Given the description of an element on the screen output the (x, y) to click on. 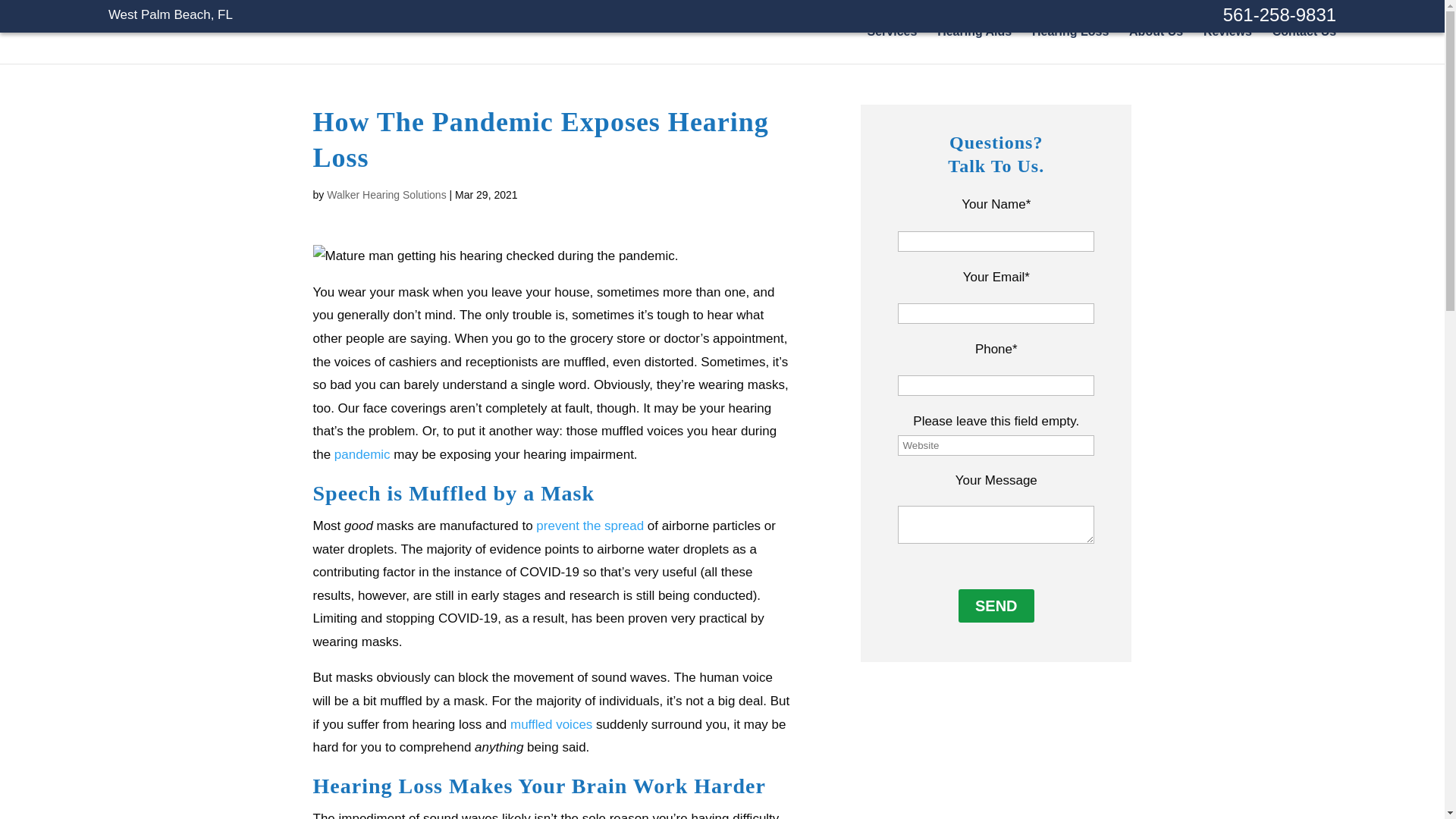
pandemic (362, 454)
Walker Hearing Solutions (385, 194)
Hearing Loss (1070, 37)
Walker Hearing Solutions (316, 28)
West Palm Beach, FL (169, 14)
Send (995, 605)
Posts by Walker Hearing Solutions (385, 194)
Services (892, 37)
Send (995, 605)
prevent the spread (589, 525)
